Given the description of an element on the screen output the (x, y) to click on. 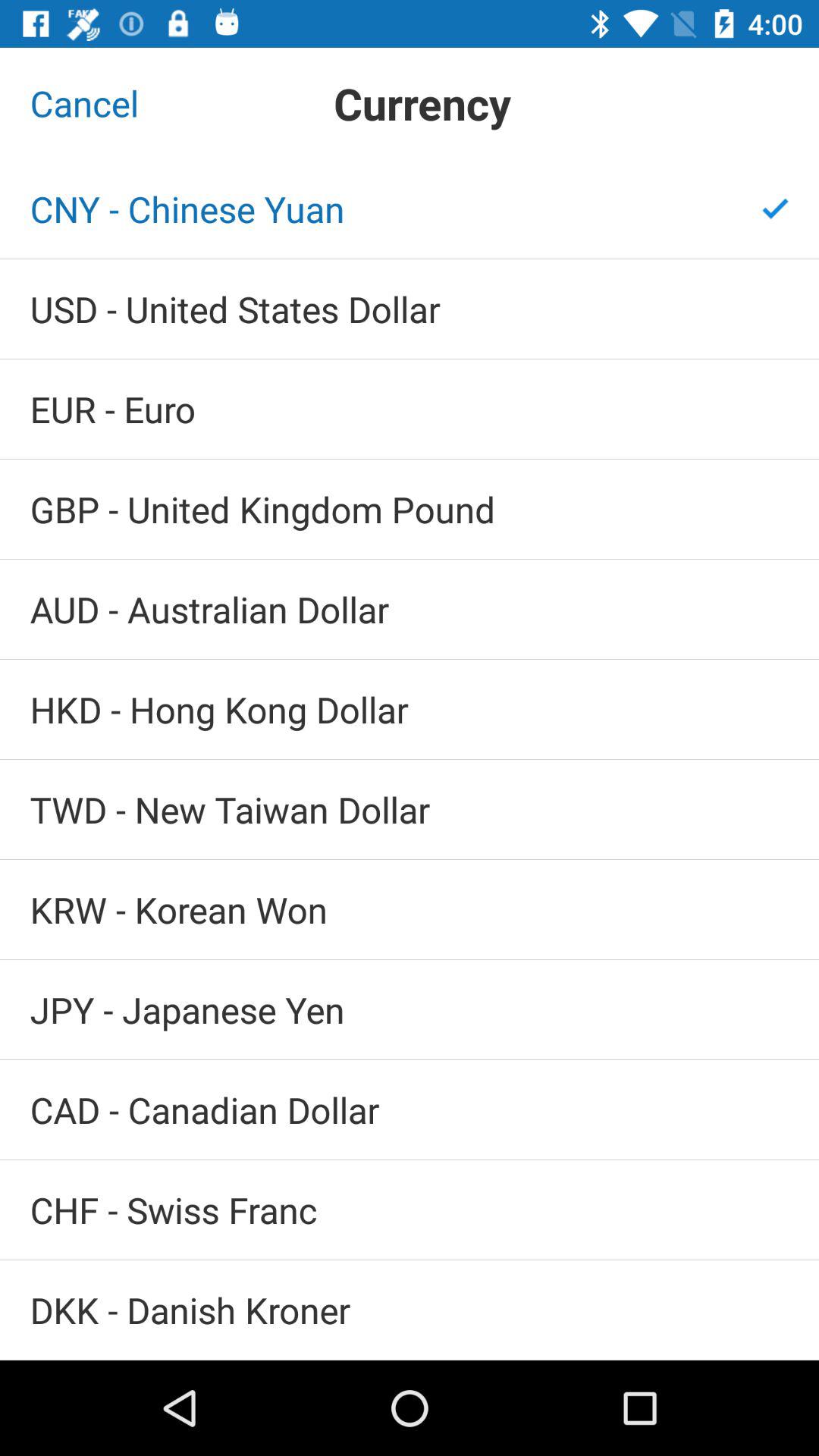
swipe to aud - australian dollar (409, 609)
